Given the description of an element on the screen output the (x, y) to click on. 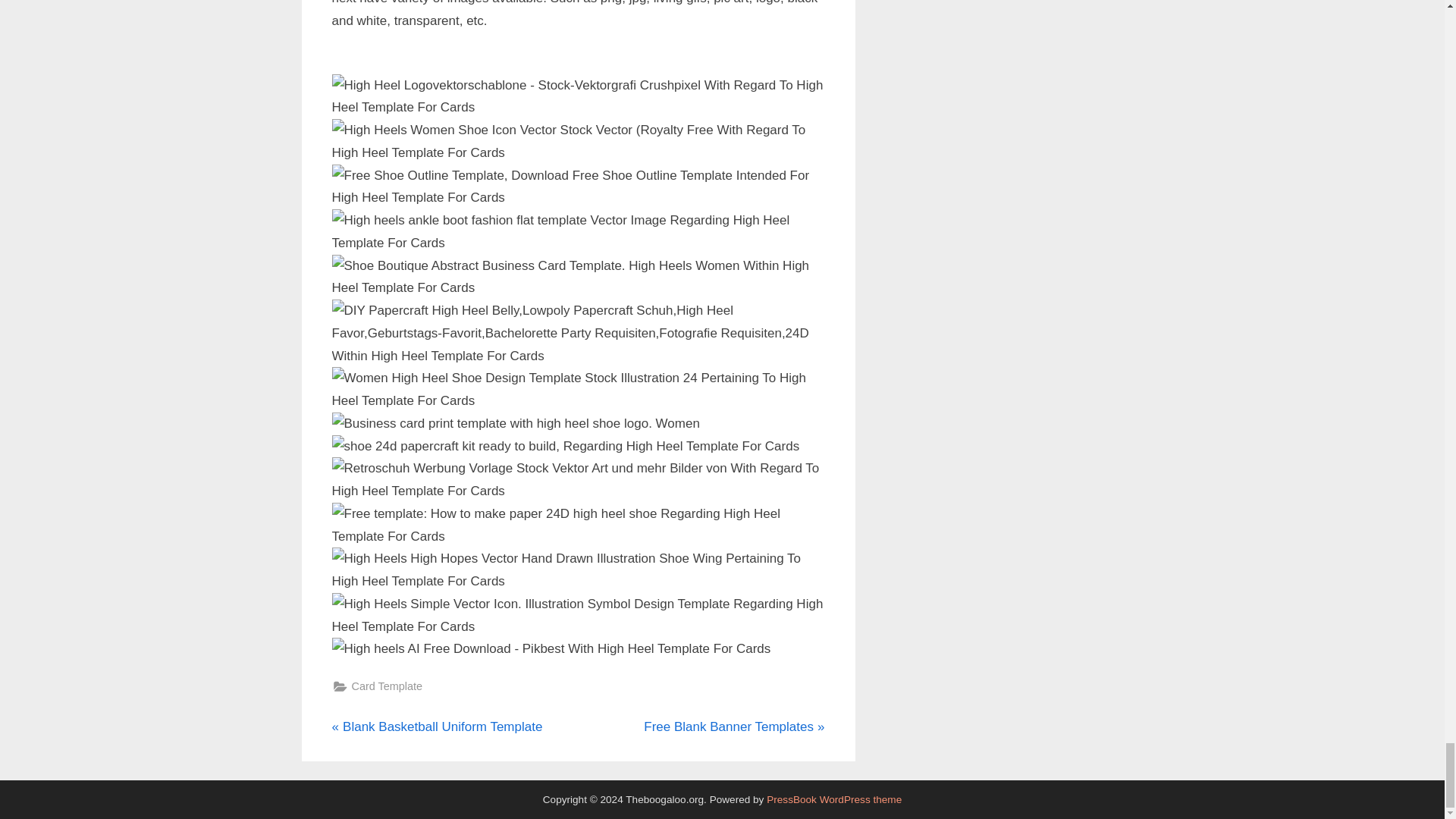
PressBook WordPress theme (437, 726)
Card Template (834, 799)
